Given the description of an element on the screen output the (x, y) to click on. 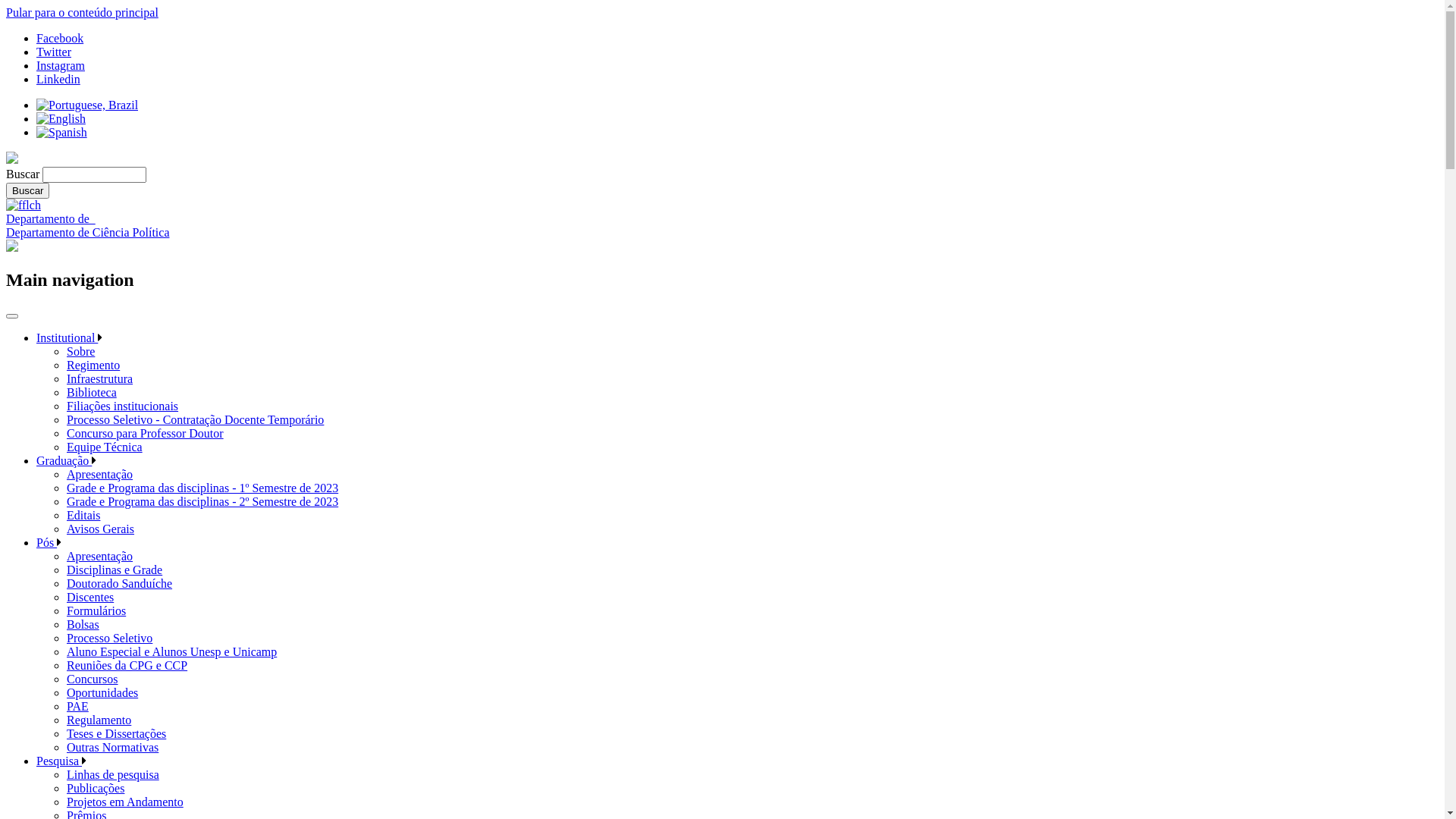
Sobre Element type: text (80, 351)
Outras Normativas Element type: text (112, 746)
Editais Element type: text (83, 514)
Concurso para Professor Doutor Element type: text (144, 432)
Infraestrutura Element type: text (99, 378)
Twitter Element type: text (53, 51)
Pesquisa Element type: text (58, 760)
Bolsas Element type: text (82, 624)
Linkedin Element type: text (58, 78)
Spanish Element type: hover (61, 132)
PAE Element type: text (77, 705)
Concursos Element type: text (92, 678)
Facebook Element type: text (59, 37)
Buscar Element type: text (27, 190)
Linhas de pesquisa Element type: text (112, 774)
Institutional Element type: text (66, 337)
Projetos em Andamento Element type: text (124, 801)
Portuguese, Brazil Element type: hover (87, 105)
Biblioteca Element type: text (91, 391)
English Element type: hover (60, 118)
Oportunidades Element type: text (102, 692)
Departamento de   Element type: text (50, 218)
Regimento Element type: text (92, 364)
Regulamento Element type: text (98, 719)
Disciplinas e Grade Element type: text (114, 569)
Processo Seletivo Element type: text (109, 637)
Instagram Element type: text (60, 65)
Avisos Gerais Element type: text (100, 528)
Discentes Element type: text (89, 596)
Aluno Especial e Alunos Unesp e Unicamp Element type: text (171, 651)
